Given the description of an element on the screen output the (x, y) to click on. 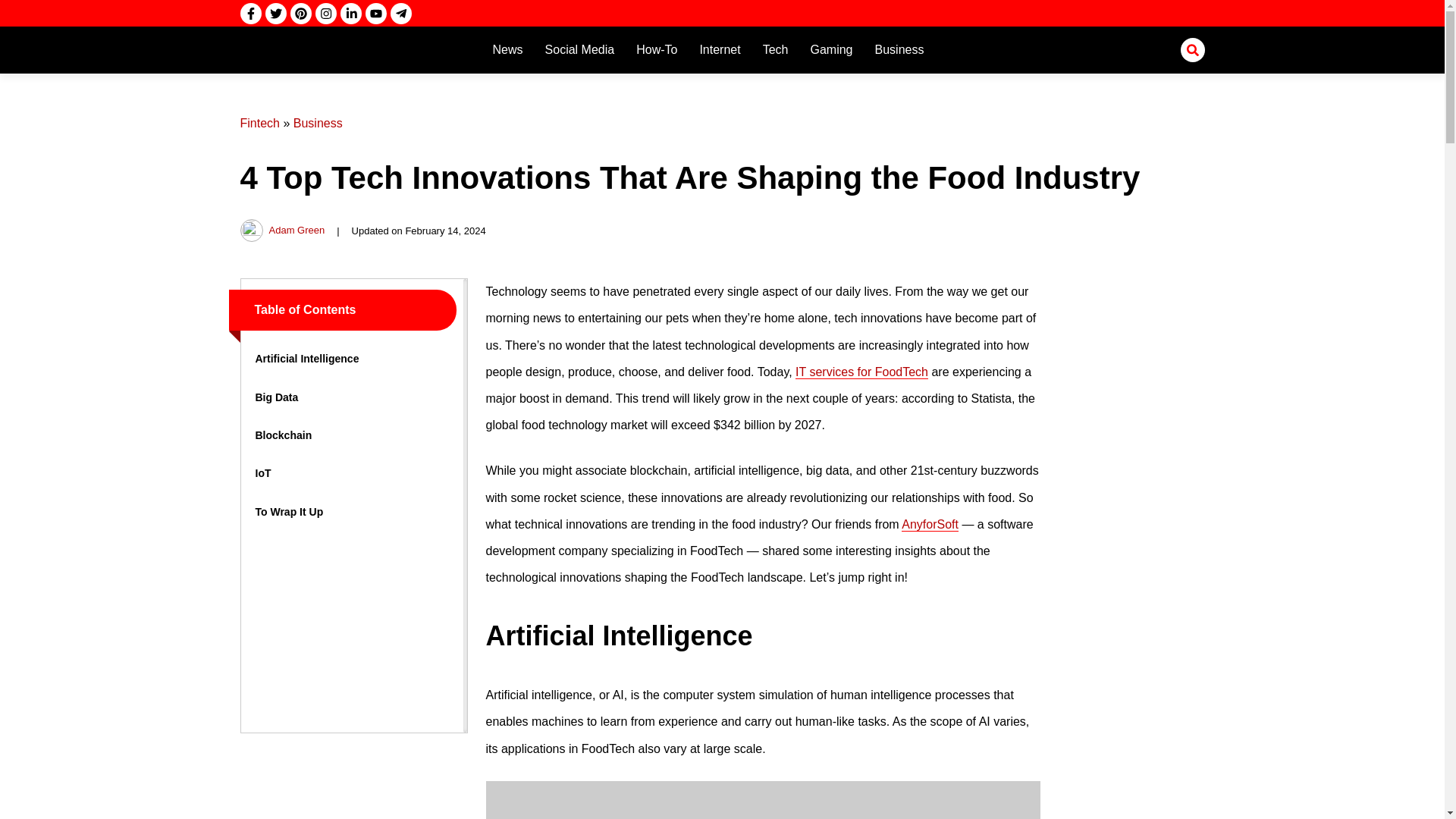
Fintech (259, 123)
News (507, 49)
News (507, 49)
Big Data (276, 397)
Tech (775, 49)
Business (899, 49)
Gaming (830, 49)
AnyforSoft (929, 524)
Internet (719, 49)
Artificial Intelligence (306, 358)
